Given the description of an element on the screen output the (x, y) to click on. 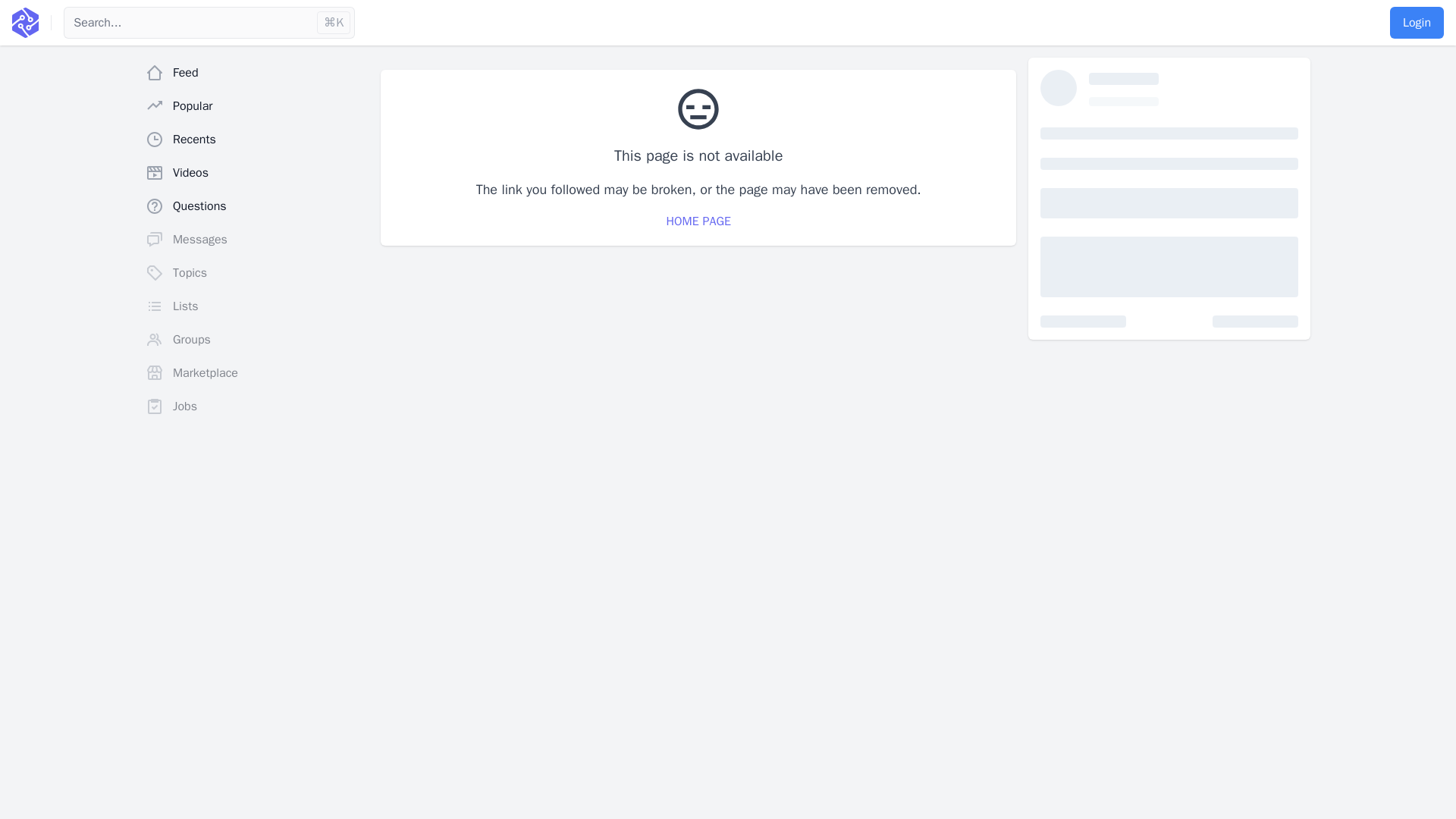
Questions (256, 205)
Videos (256, 173)
Popular (256, 105)
Feed (256, 72)
Login (1417, 22)
Recents (256, 139)
HOME PAGE (698, 221)
